Given the description of an element on the screen output the (x, y) to click on. 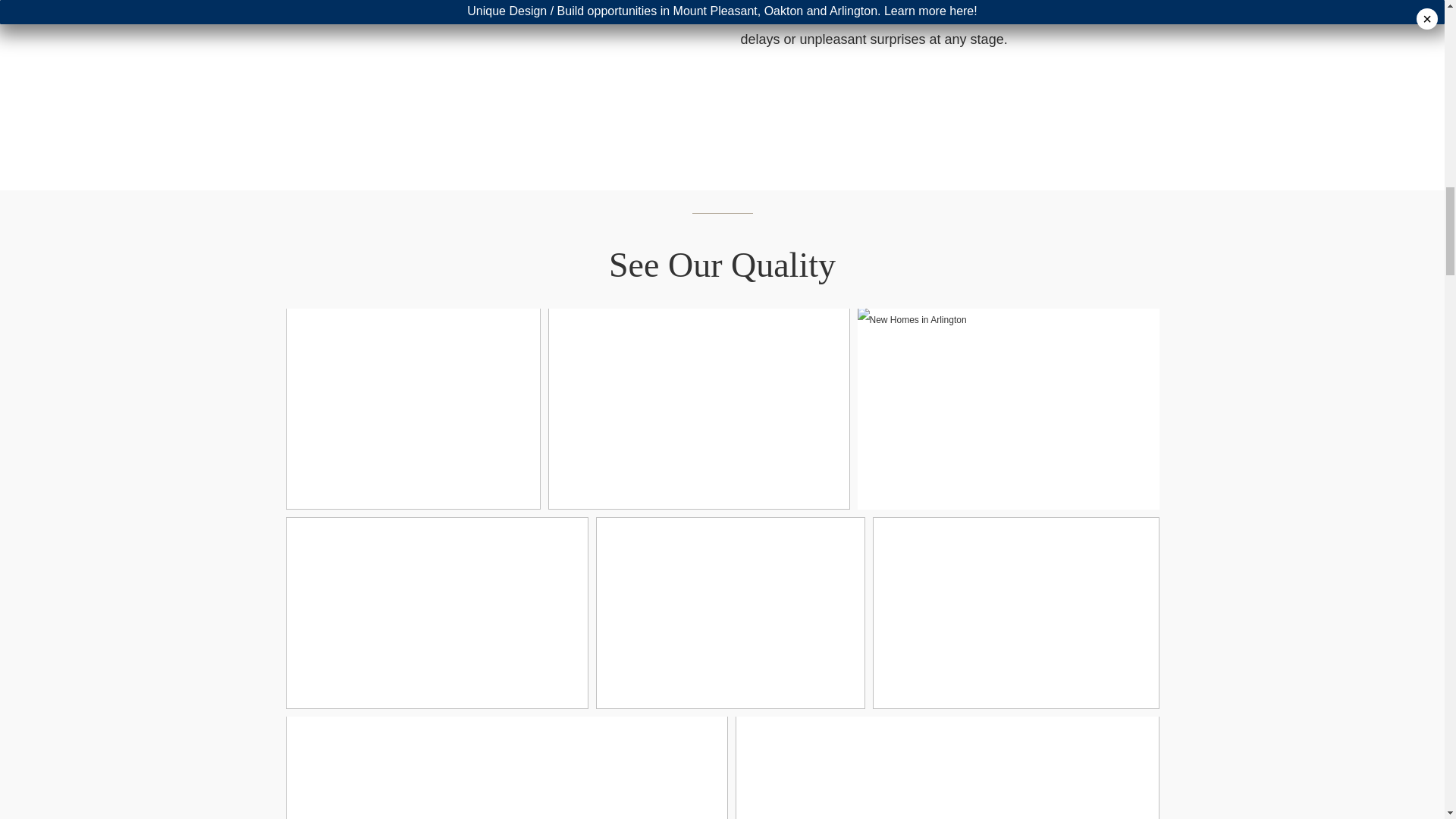
Night-Front-Exterior-of-a-custom-home (484, 60)
Image 01 (412, 408)
024-3313-N-TRINIDAD-STREET-226614-323332 (946, 767)
